Given the description of an element on the screen output the (x, y) to click on. 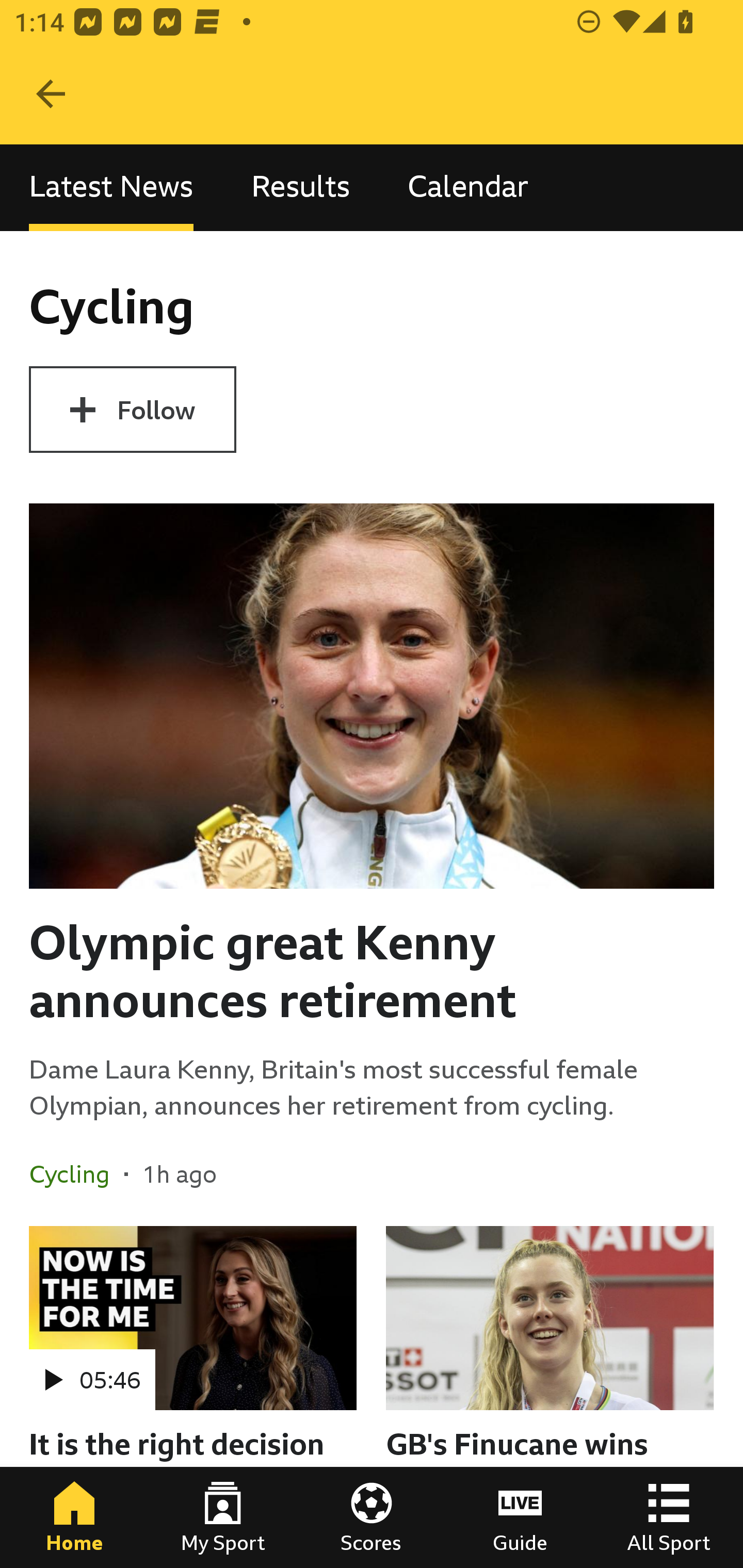
Navigate up (50, 93)
Latest News, selected Latest News (111, 187)
Results (300, 187)
Calendar (467, 187)
Follow Cycling Follow (132, 409)
My Sport (222, 1517)
Scores (371, 1517)
Guide (519, 1517)
All Sport (668, 1517)
